Given the description of an element on the screen output the (x, y) to click on. 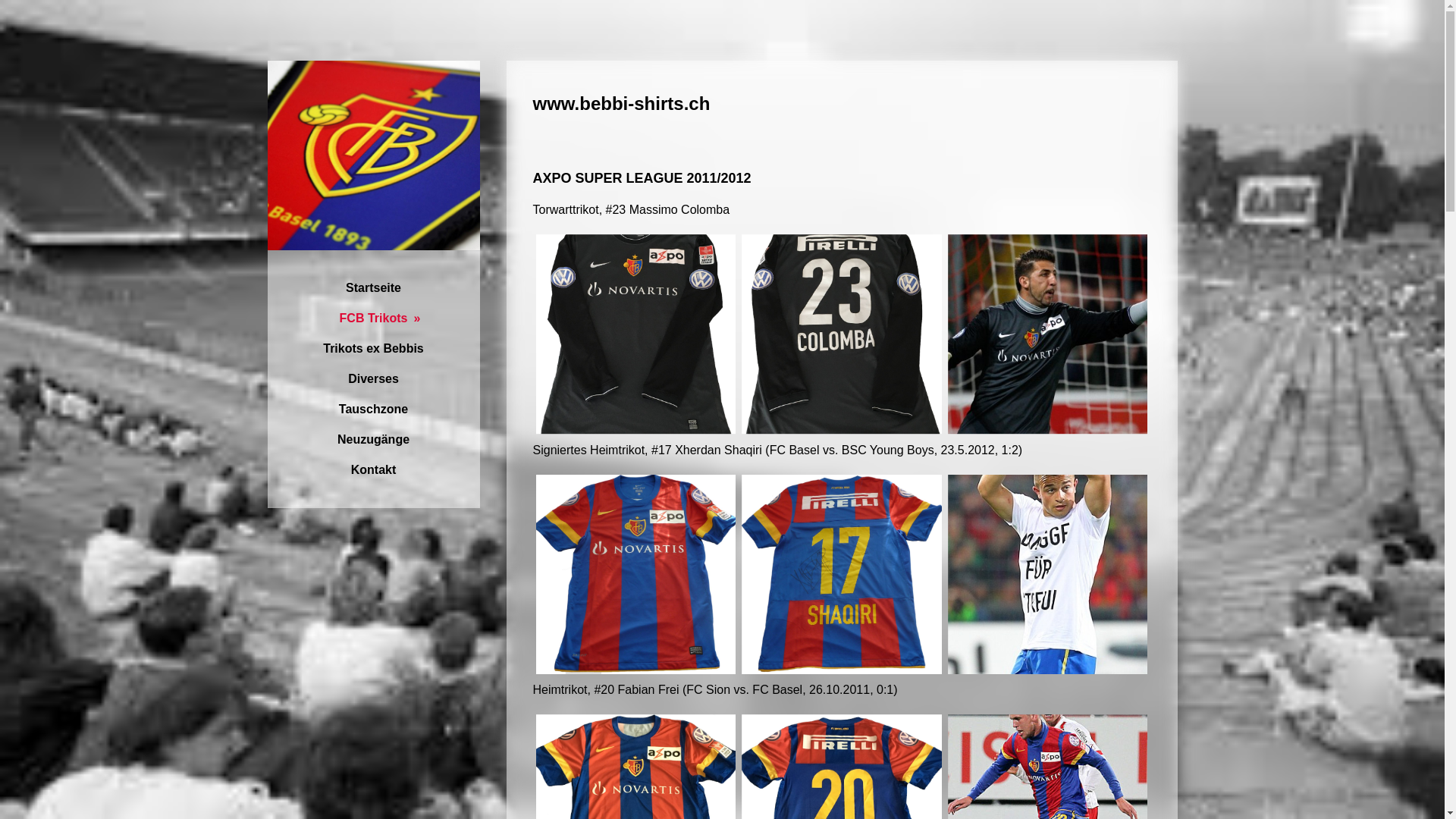
FCB Trikots Element type: text (372, 318)
Kontakt Element type: text (372, 470)
Trikots ex Bebbis Element type: text (372, 348)
Diverses Element type: text (372, 379)
Tauschzone Element type: text (372, 409)
Startseite Element type: text (372, 288)
